Given the description of an element on the screen output the (x, y) to click on. 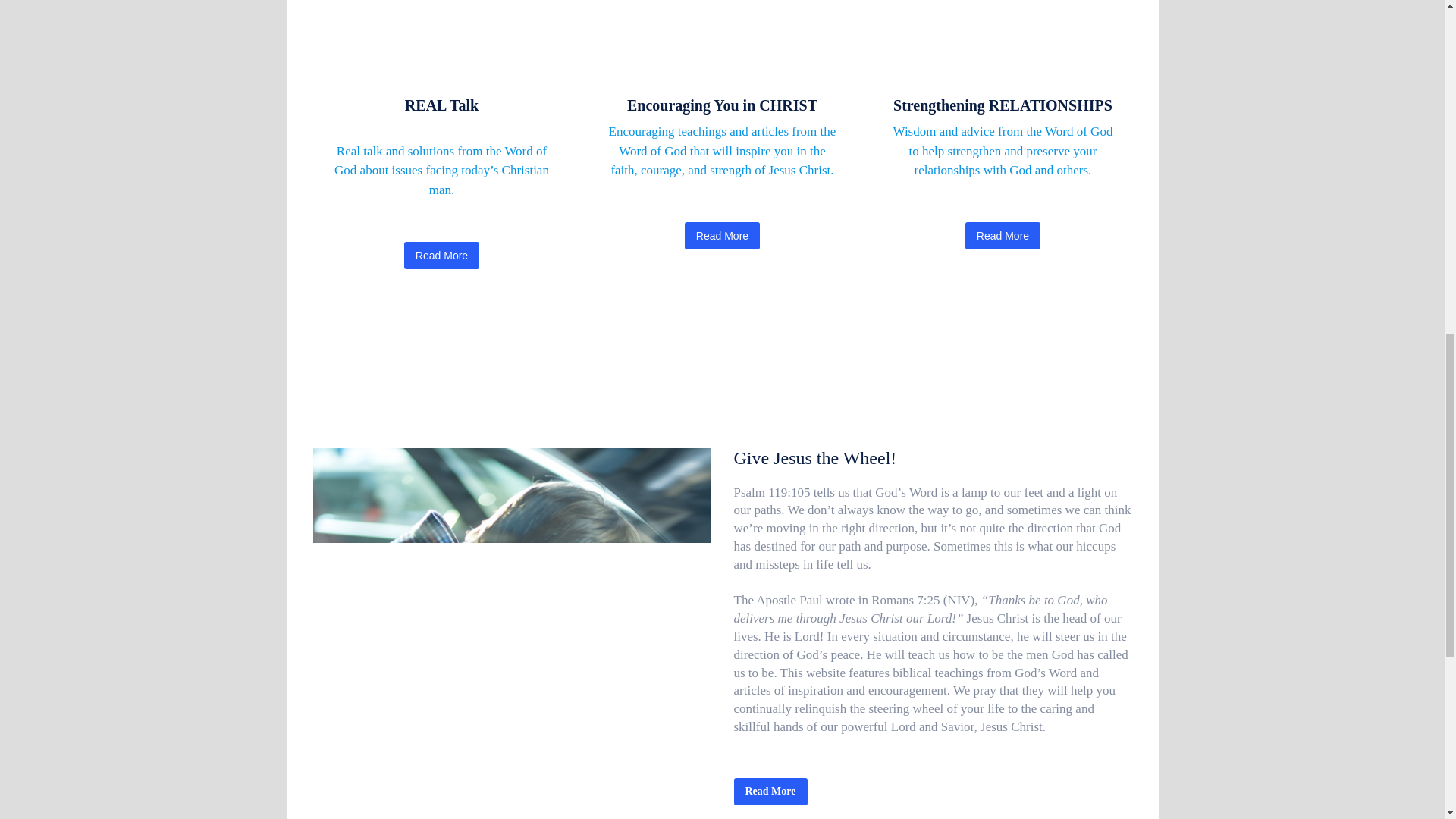
Read More (441, 255)
Read More (1003, 235)
Read More (770, 791)
Read More (722, 235)
